Given the description of an element on the screen output the (x, y) to click on. 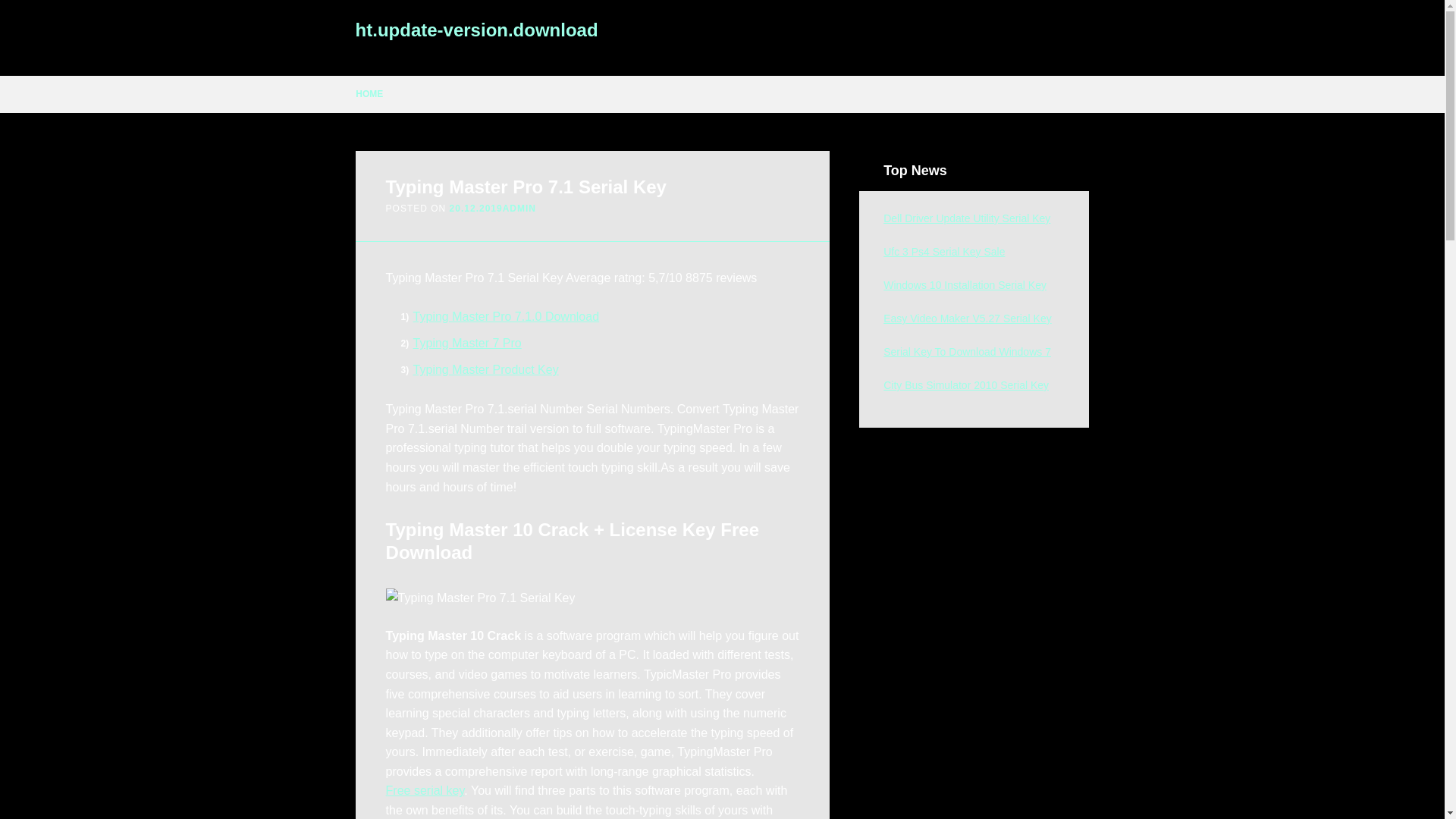
Typing Master Pro 7.1 Serial Key (480, 598)
Typing Master Product Key (486, 369)
Typing Master 7 Pro (467, 342)
Look Typing Master Pro 7.1 Serial Key (967, 351)
ht.update-version.download (476, 29)
City Bus Simulator 2010 Serial Key (965, 385)
ht.update-version.download (476, 29)
Dell Driver Update Utility Serial Key (966, 218)
View all posts by admin (518, 208)
Windows 10 Installation Serial Key (964, 285)
Look Typing Master Pro 7.1 Serial Key (964, 285)
Look Typing Master Pro 7.1 Serial Key (966, 218)
HOME (368, 94)
Look Typing Master Pro 7.1 Serial Key (965, 385)
20.12.2019 (475, 208)
